Given the description of an element on the screen output the (x, y) to click on. 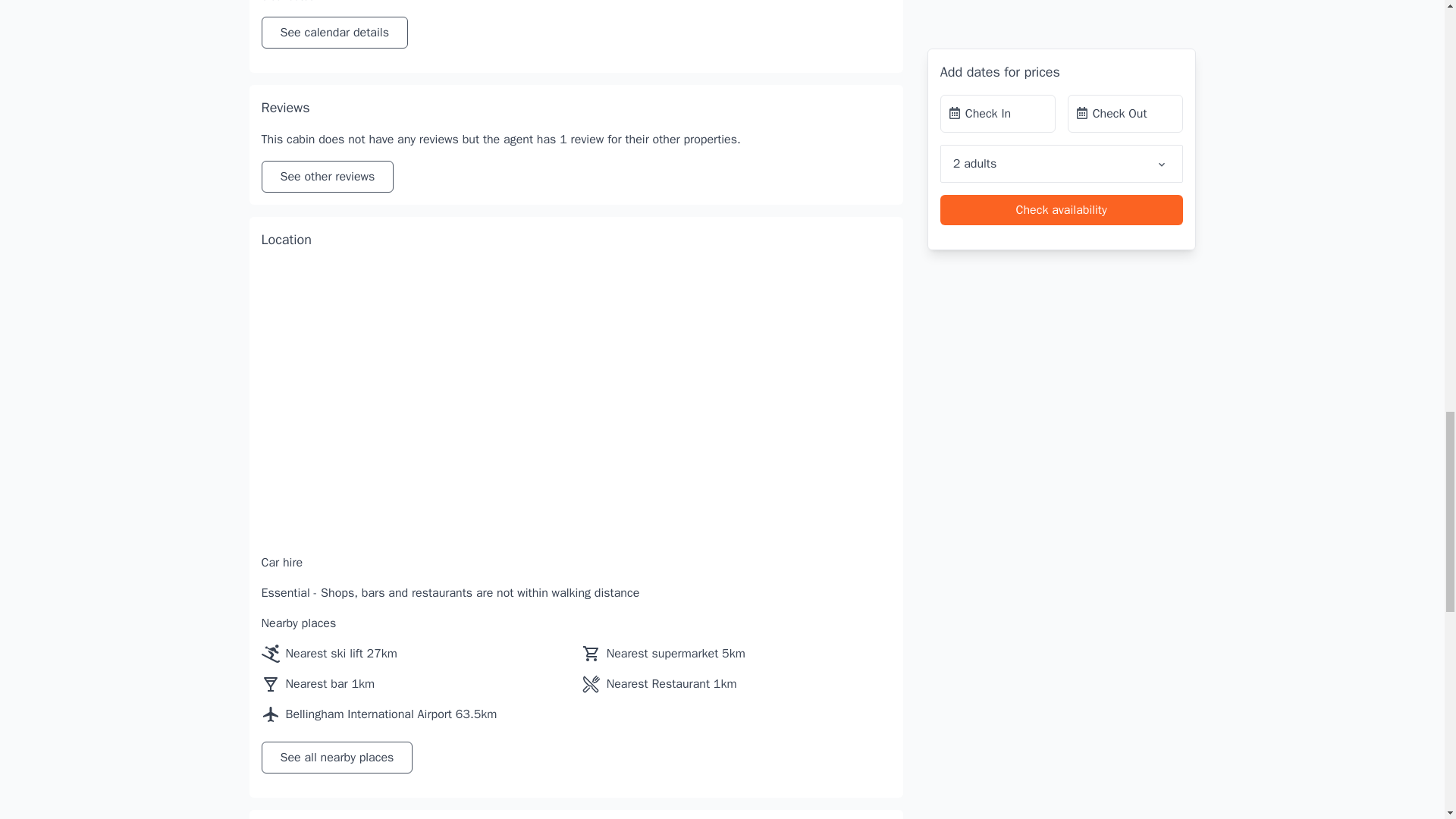
Clear dates (287, 2)
See other reviews (326, 176)
